Given the description of an element on the screen output the (x, y) to click on. 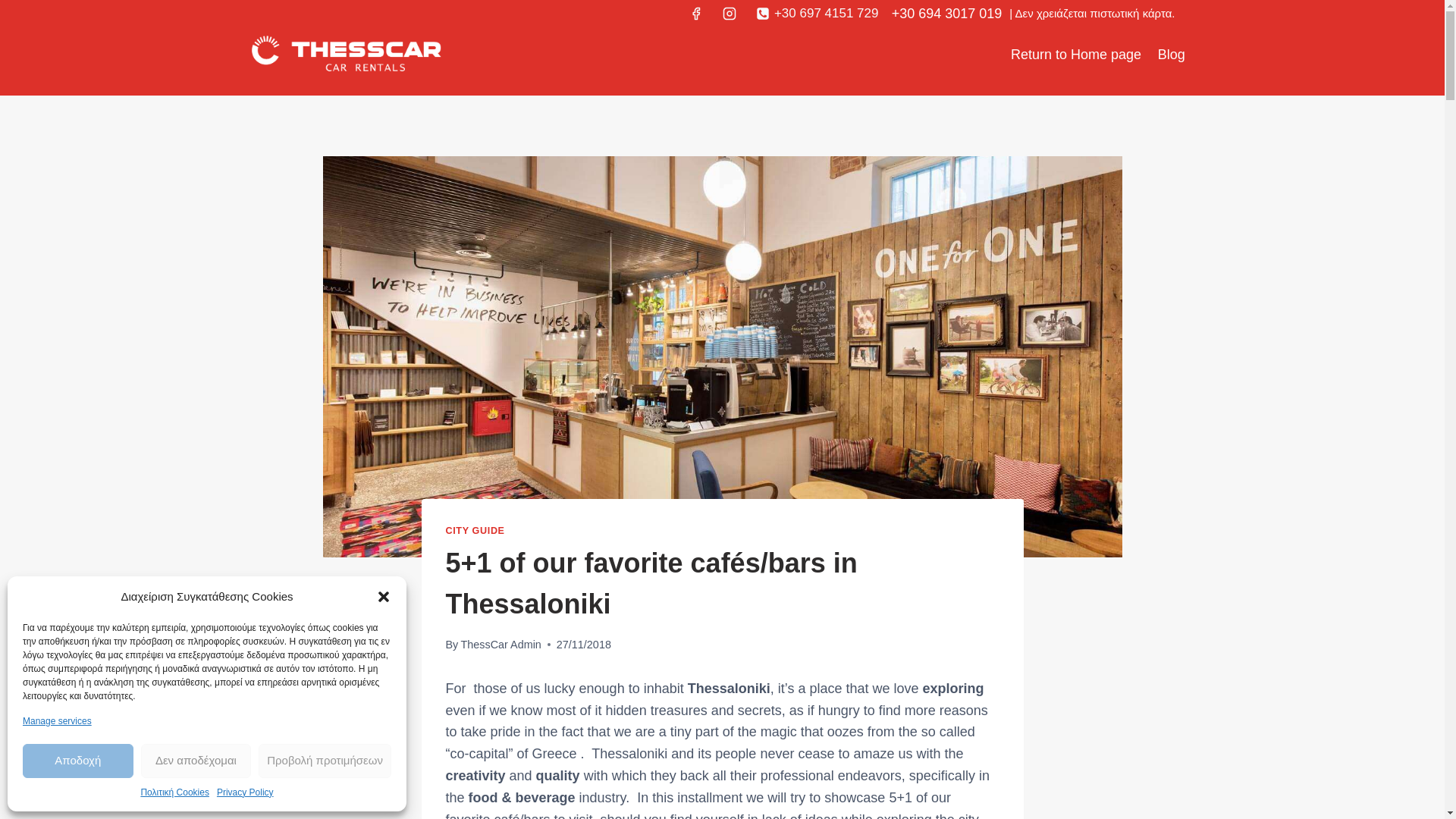
ThessCar Admin (500, 644)
Blog (1171, 54)
CITY GUIDE (475, 530)
Privacy Policy (244, 792)
Manage services (57, 721)
Return to Home page (1076, 54)
